Given the description of an element on the screen output the (x, y) to click on. 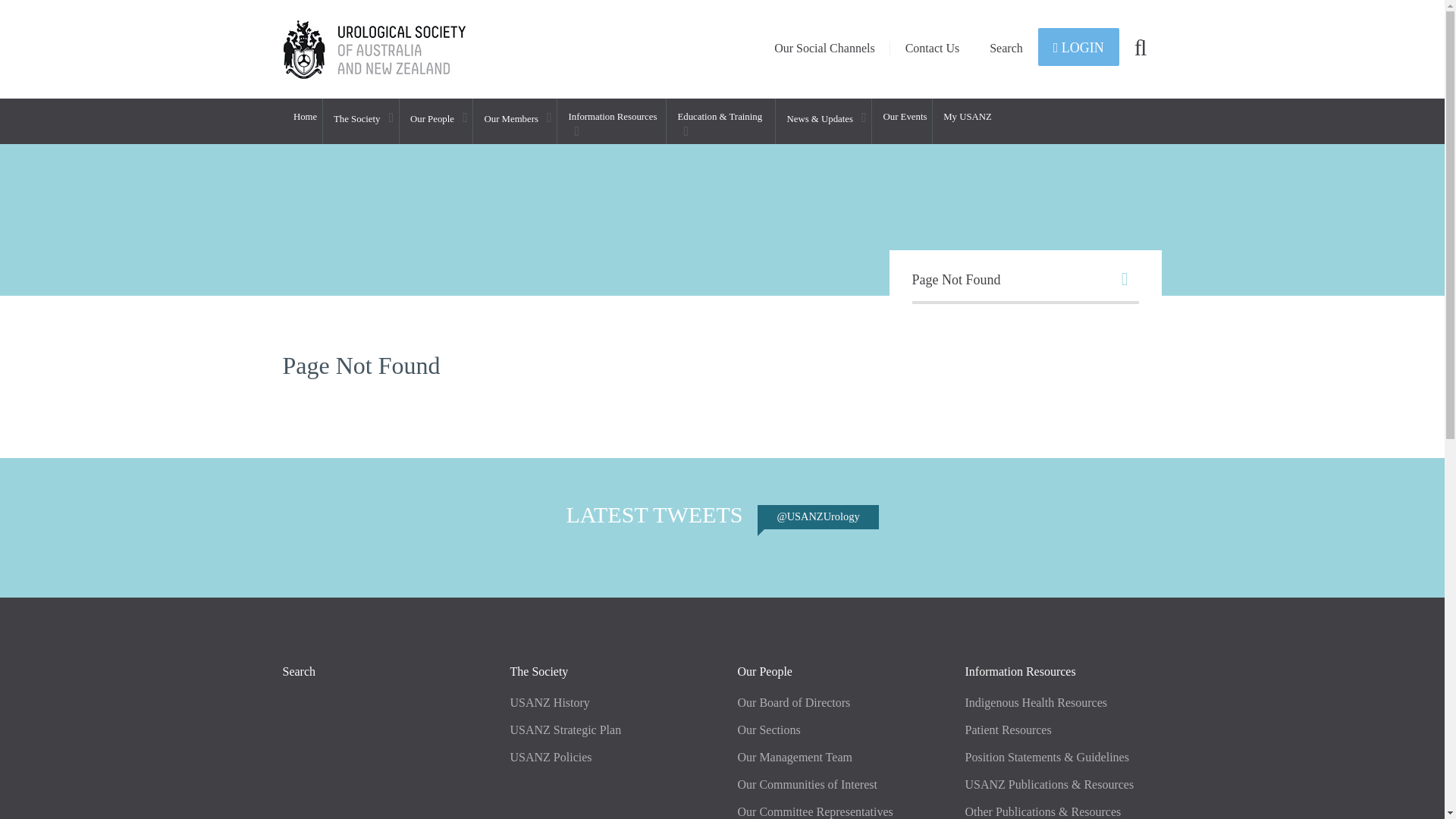
Our People (436, 121)
LOGIN (1078, 46)
Our Members (515, 121)
Information Resources (611, 121)
Our Social Channels (823, 48)
Our Events (902, 121)
Search (1006, 48)
My USANZ (964, 121)
Contact Us (932, 48)
The Society (360, 121)
